Given the description of an element on the screen output the (x, y) to click on. 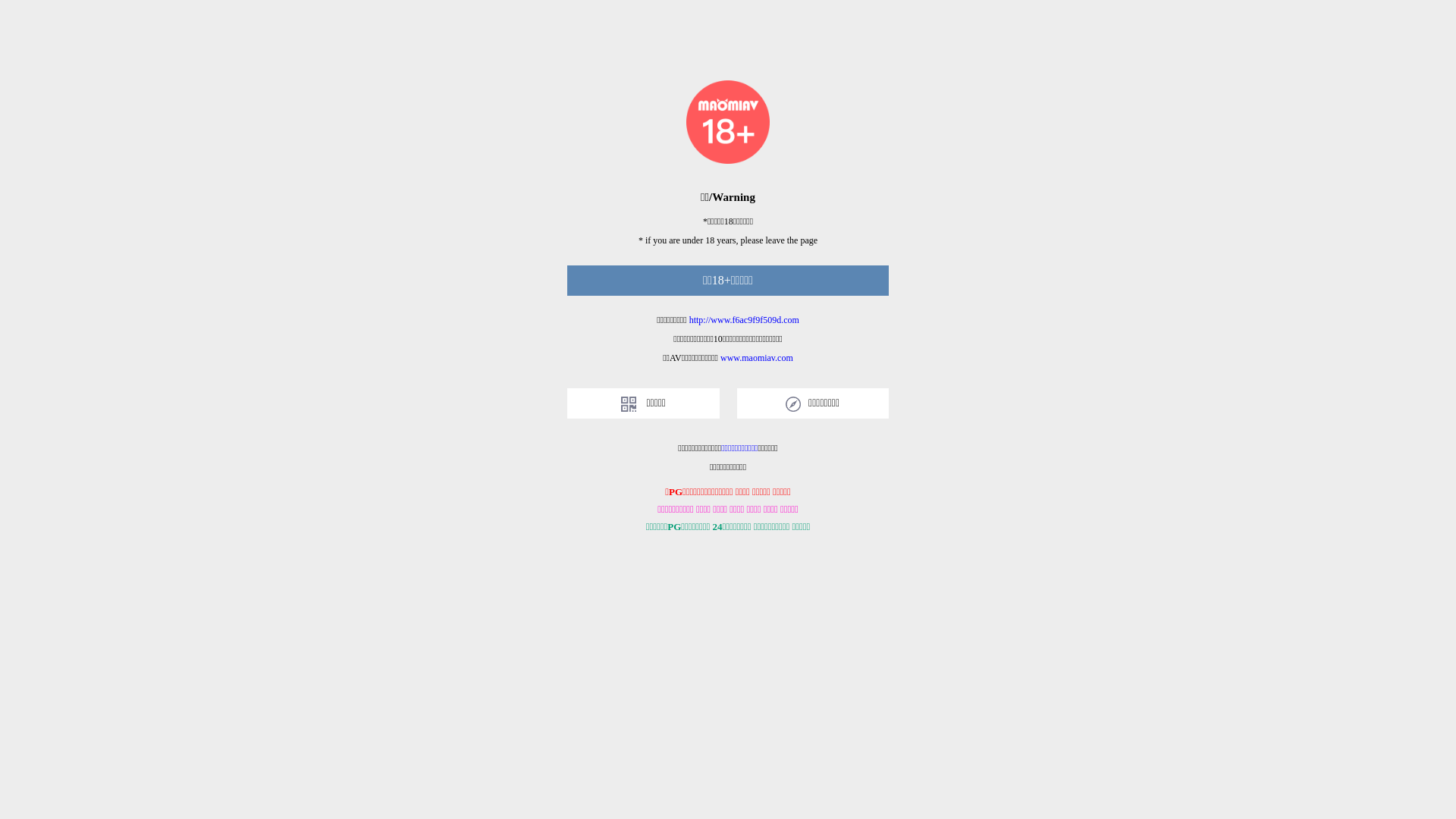
www.maomiav.com Element type: text (756, 357)
http://www.f6ac9f9f509d.com Element type: text (744, 319)
